Given the description of an element on the screen output the (x, y) to click on. 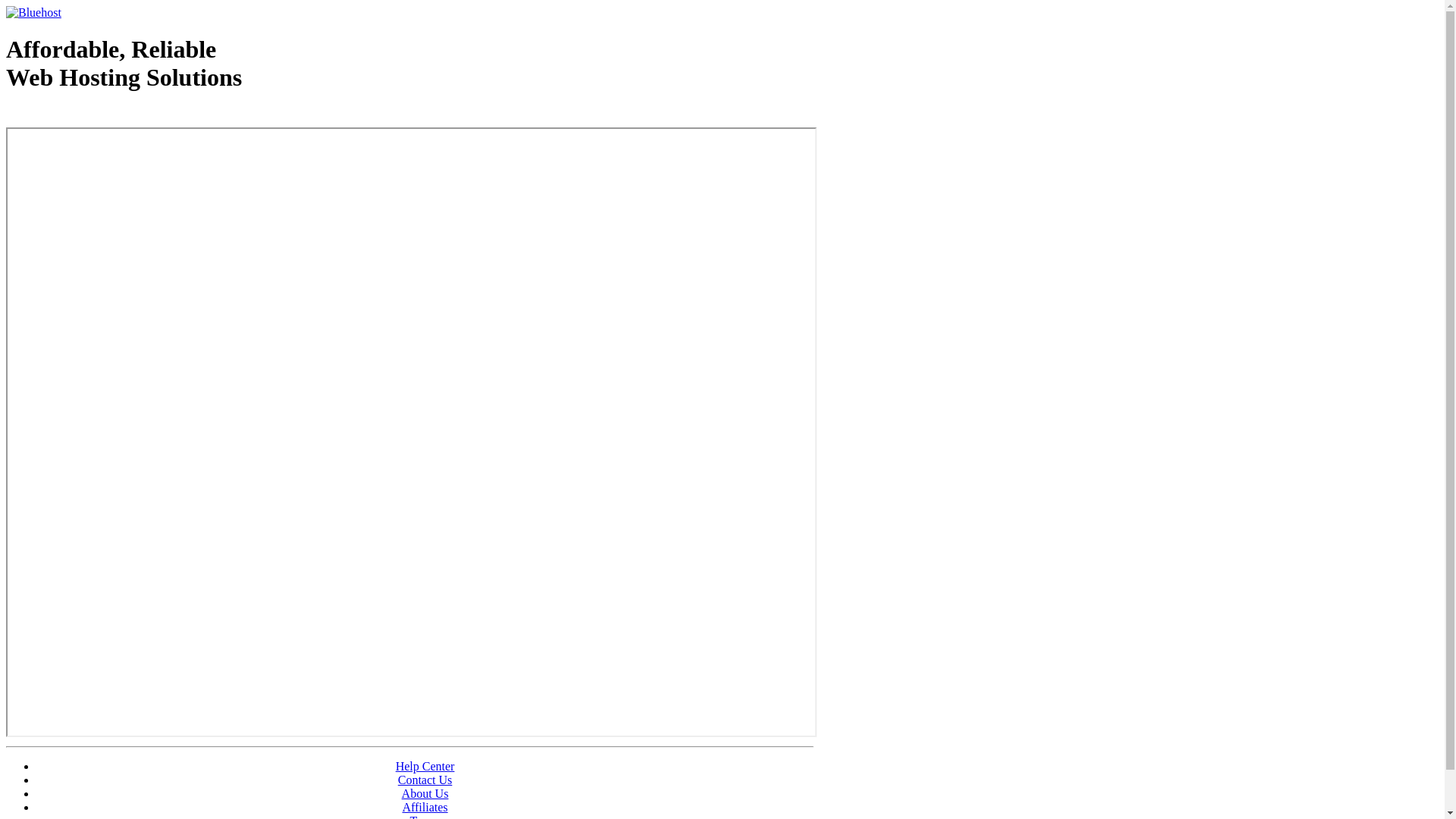
About Us Element type: text (424, 793)
Help Center Element type: text (425, 765)
Web Hosting - courtesy of www.bluehost.com Element type: text (94, 115)
Contact Us Element type: text (425, 779)
Affiliates Element type: text (424, 806)
